Given the description of an element on the screen output the (x, y) to click on. 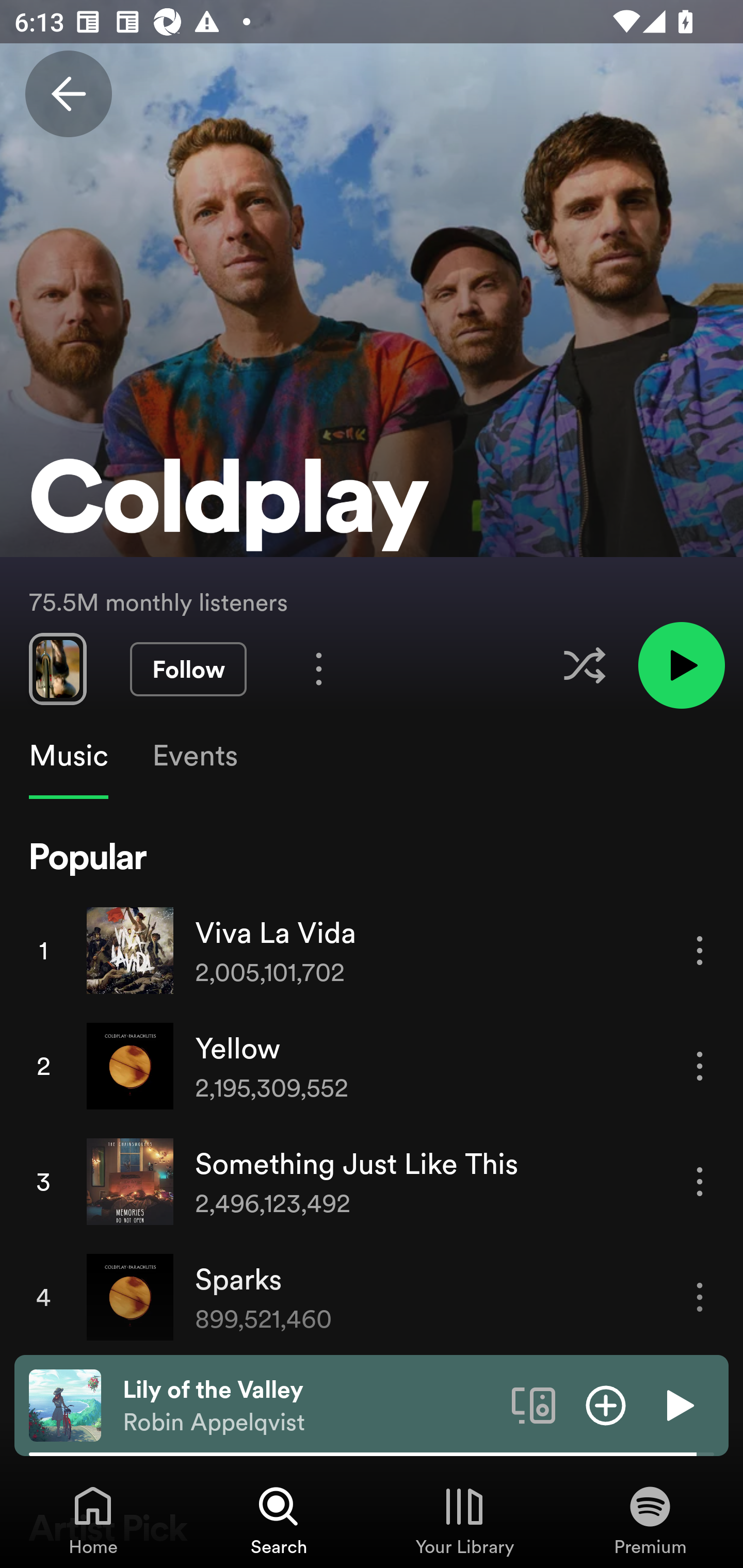
Back (68, 93)
Play artist (681, 664)
Enable shuffle for this artist (583, 665)
Swipe through previews of tracks from this artist. (57, 668)
More options for artist Coldplay (318, 668)
Follow (188, 669)
Events (194, 755)
More options for song Viva La Vida (699, 950)
More options for song Yellow (699, 1066)
More options for song Something Just Like This (699, 1181)
4 Sparks 899,521,460 More options for song Sparks (371, 1296)
More options for song Sparks (699, 1297)
Lily of the Valley Robin Appelqvist (309, 1405)
The cover art of the currently playing track (64, 1404)
Connect to a device. Opens the devices menu (533, 1404)
Add item (605, 1404)
Play (677, 1404)
Home, Tab 1 of 4 Home Home (92, 1519)
Search, Tab 2 of 4 Search Search (278, 1519)
Your Library, Tab 3 of 4 Your Library Your Library (464, 1519)
Premium, Tab 4 of 4 Premium Premium (650, 1519)
